Given the description of an element on the screen output the (x, y) to click on. 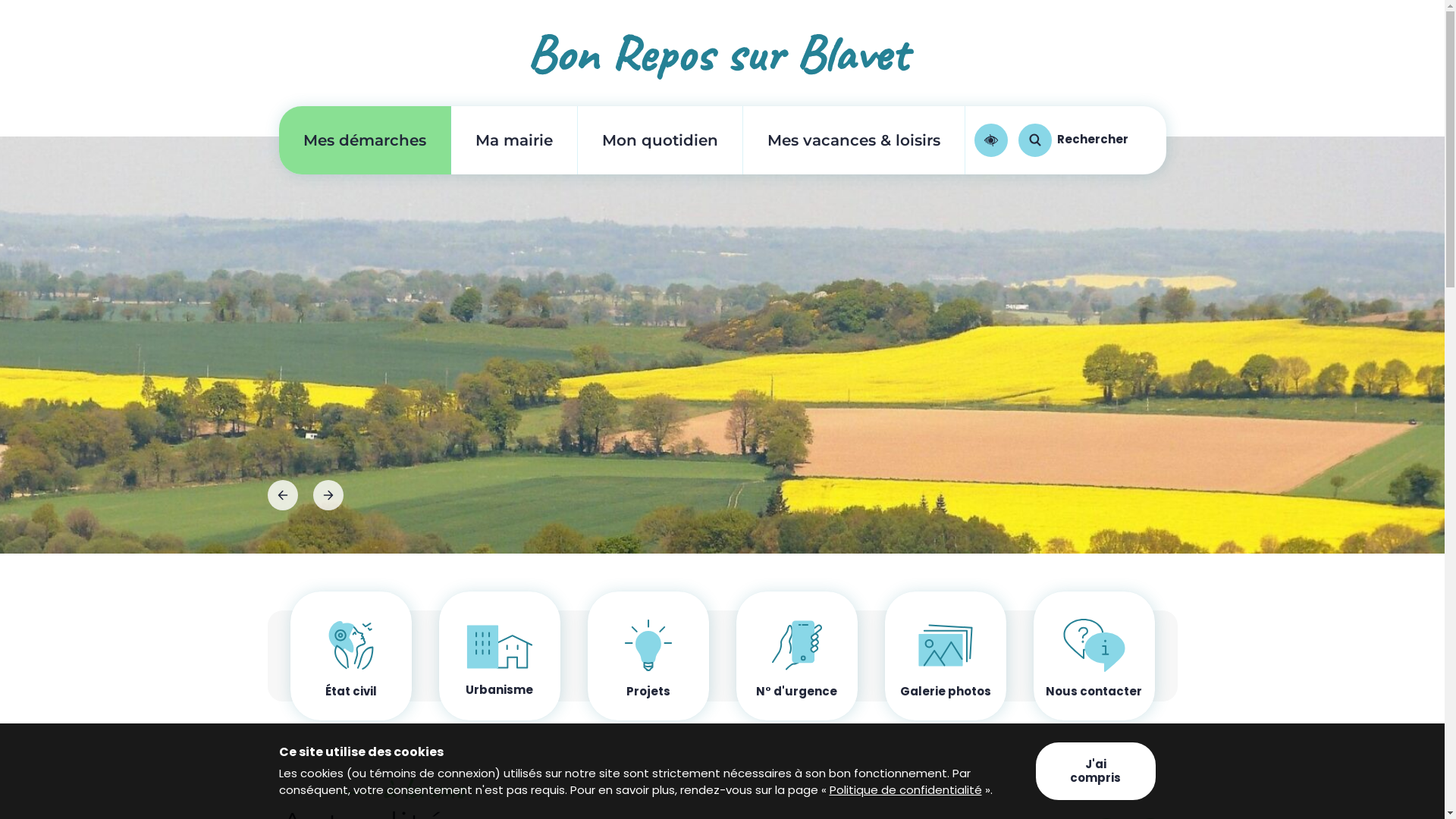
Nous contacter Element type: text (1093, 655)
Bon Repos sur Blavet (22) Element type: text (721, 53)
Ma mairie Element type: text (513, 140)
Galerie photos Element type: text (944, 655)
Mes vacances & loisirs Element type: text (854, 140)
Rechercher Element type: text (1072, 139)
Mon quotidien Element type: text (660, 140)
J'ai compris Element type: text (1094, 771)
Urbanisme Element type: text (498, 655)
Projets Element type: text (647, 655)
